Given the description of an element on the screen output the (x, y) to click on. 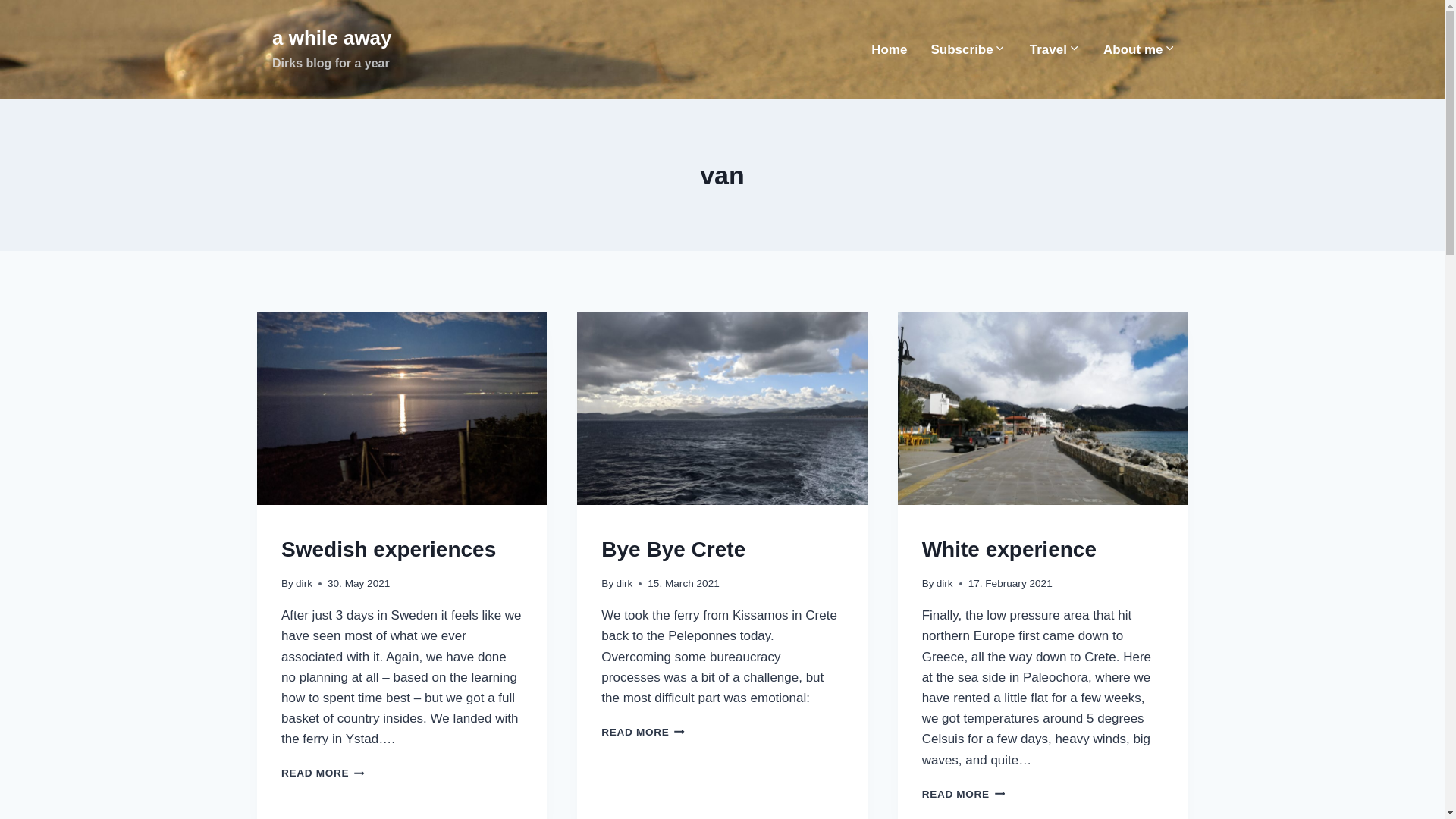
About me (331, 49)
dirk (323, 772)
White experience (1140, 49)
Swedish experiences (642, 731)
dirk (304, 583)
Subscribe (1008, 549)
Home (388, 549)
